Given the description of an element on the screen output the (x, y) to click on. 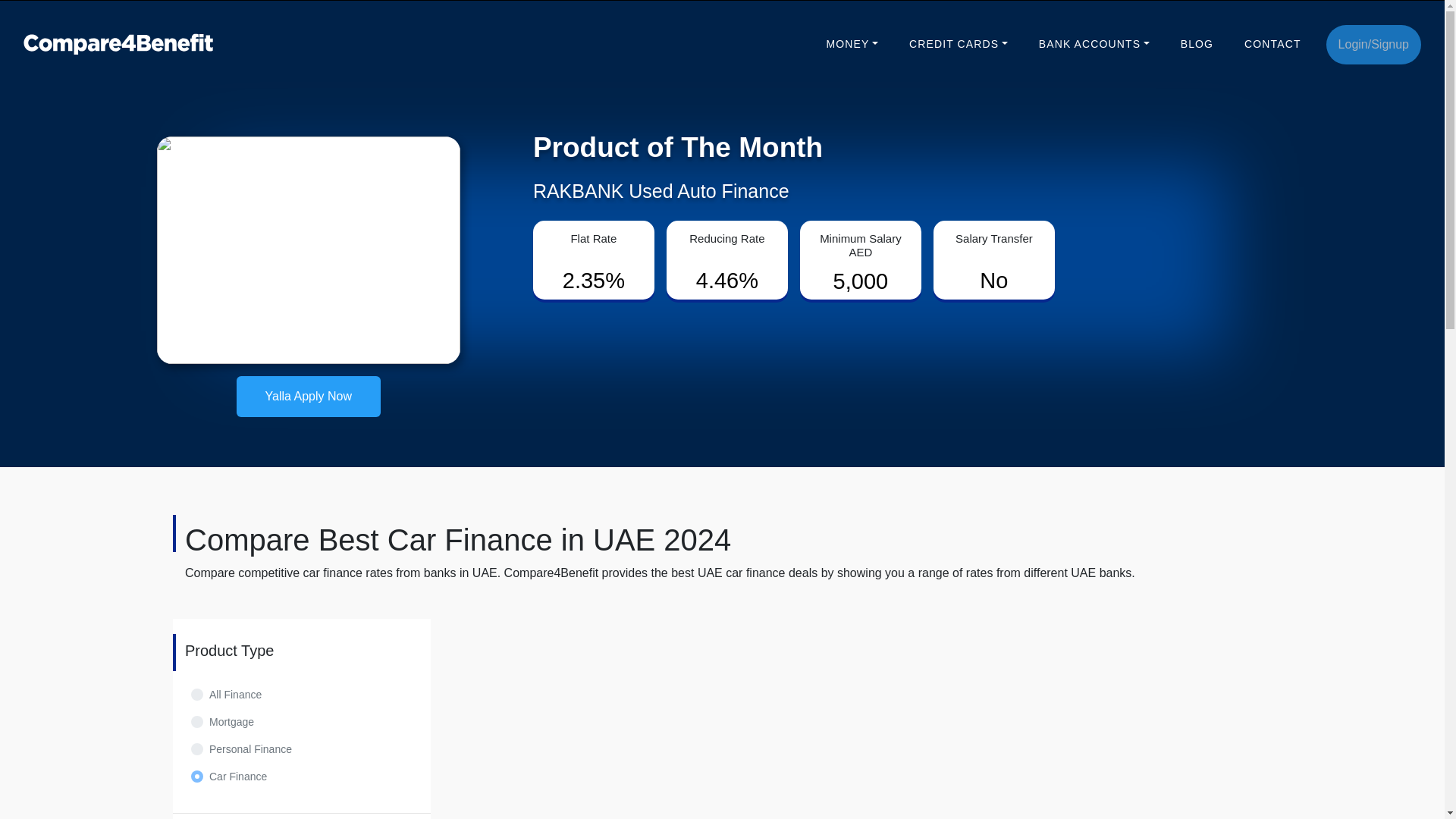
MONEY (853, 44)
BANK ACCOUNTS (1094, 44)
BLOG (1197, 44)
CREDIT CARDS (957, 44)
